Given the description of an element on the screen output the (x, y) to click on. 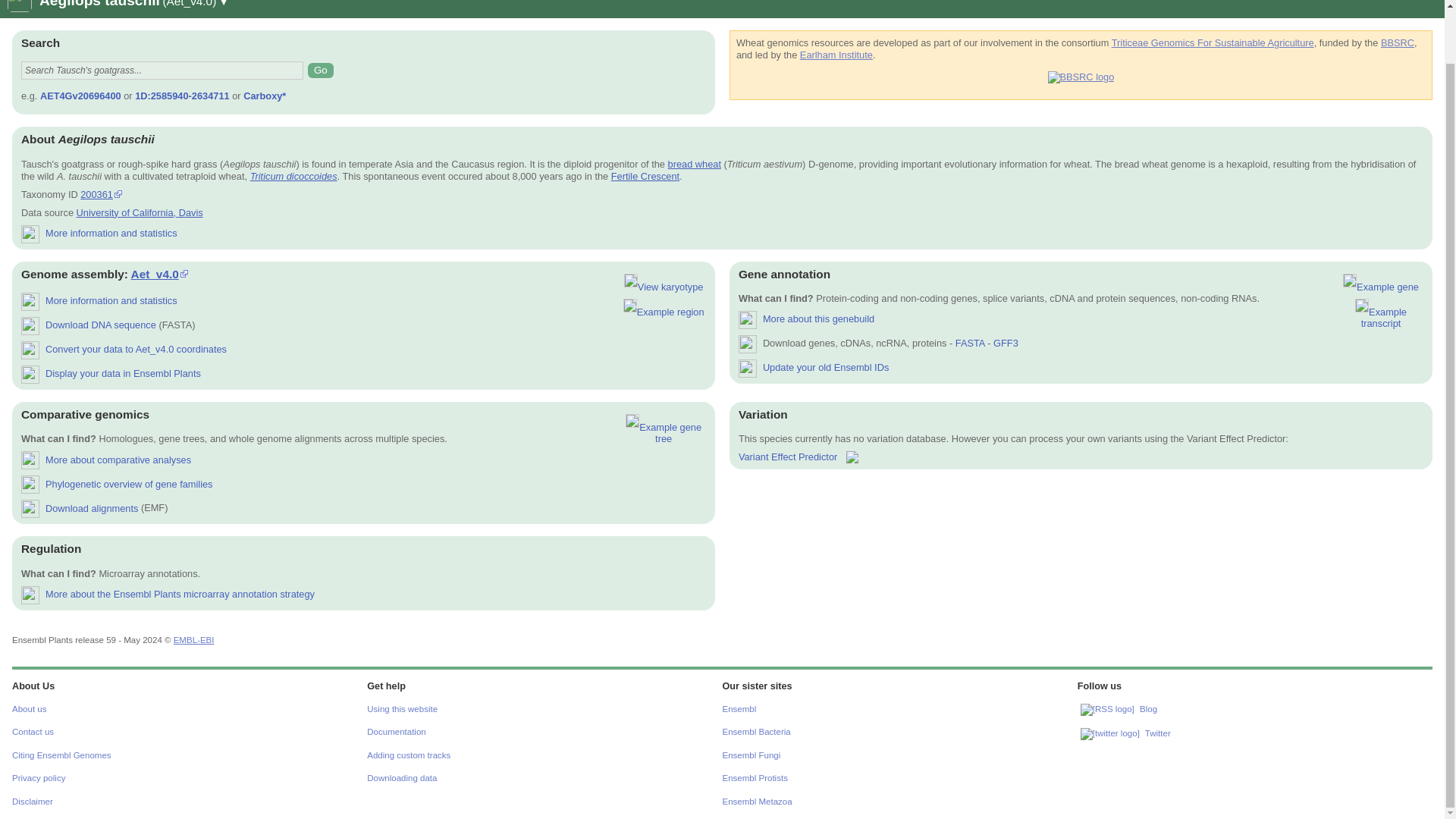
Go to transcript AET4Gv20696400.3 (1380, 313)
Search Tausch's goatgrass... (161, 70)
Ensembl blog (1107, 709)
Go to gene tree for AET4Gv20696400 (663, 429)
Go (320, 69)
Go to gene AET4Gv20696400 (1380, 282)
Follow us on Twitter! (1110, 734)
Go to 1D:2585940-2634711 (663, 307)
Go to Aegilops tauschii karyotype (663, 282)
Triticum aestivum in Ensembl Plants (694, 163)
